Given the description of an element on the screen output the (x, y) to click on. 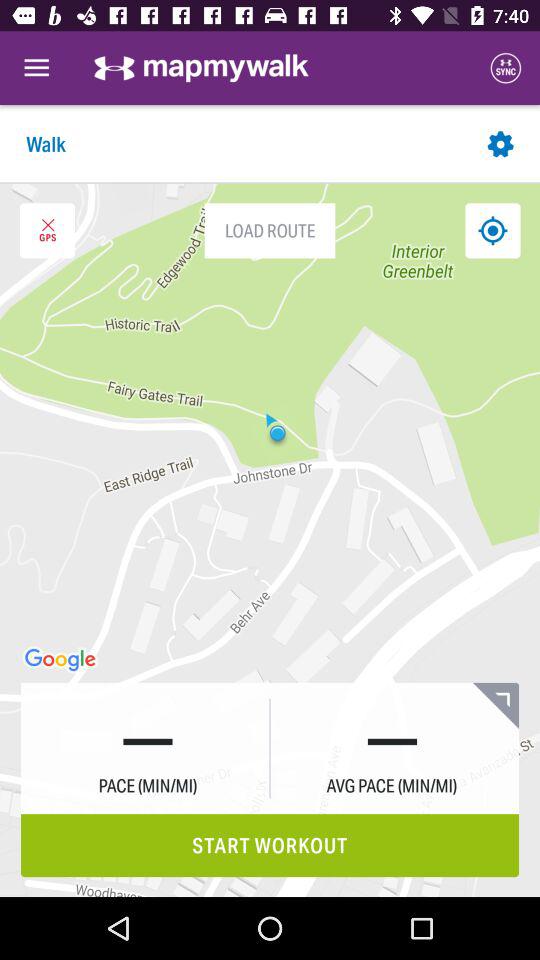
more info (495, 705)
